Given the description of an element on the screen output the (x, y) to click on. 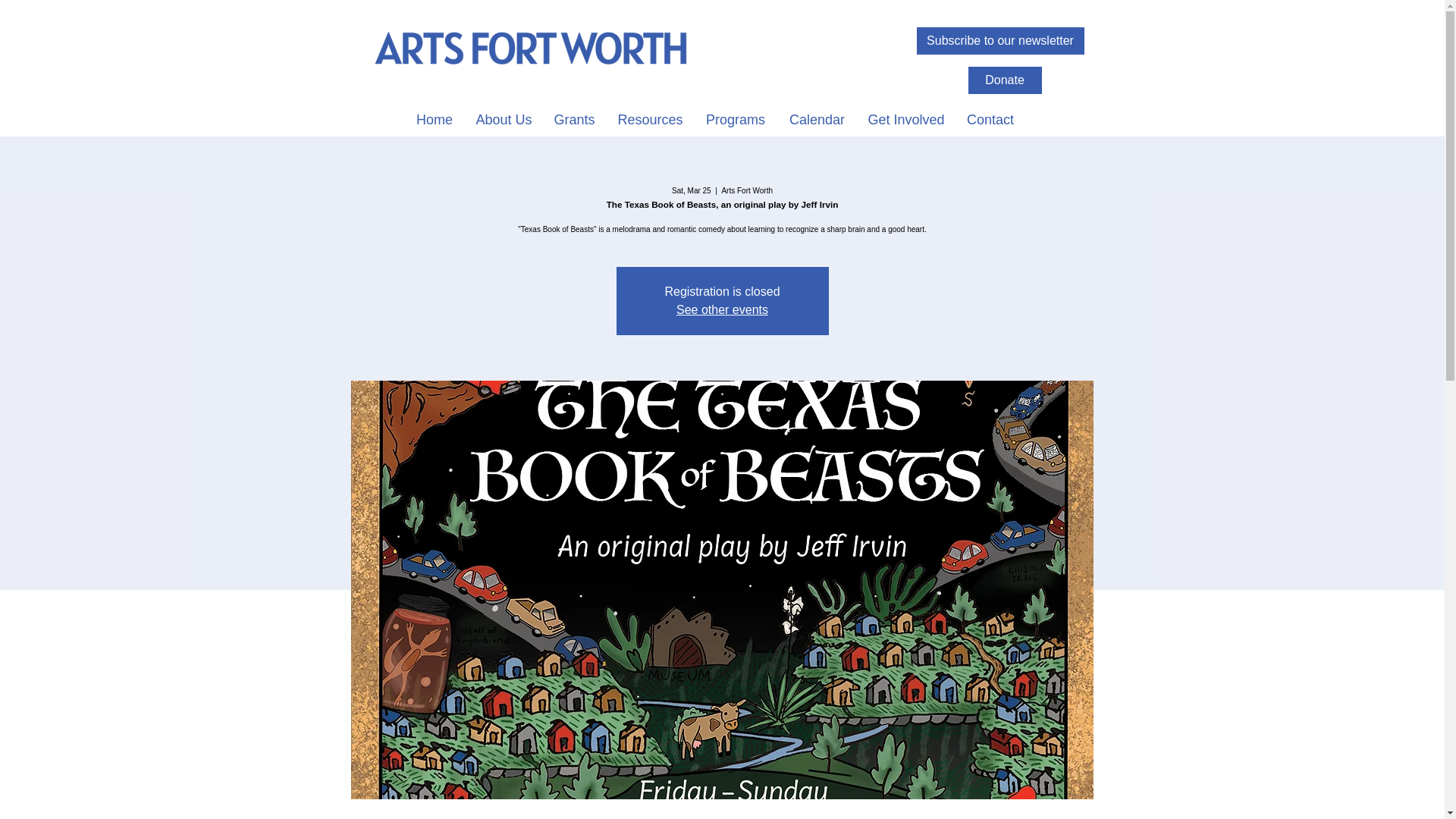
Grants (575, 118)
Resources (650, 118)
Contact (990, 118)
Home (434, 118)
See other events (722, 309)
Subscribe to our newsletter (999, 40)
Calendar (817, 118)
Programs (735, 118)
Donate (1004, 80)
Get Involved (906, 118)
About Us (502, 118)
